Given the description of an element on the screen output the (x, y) to click on. 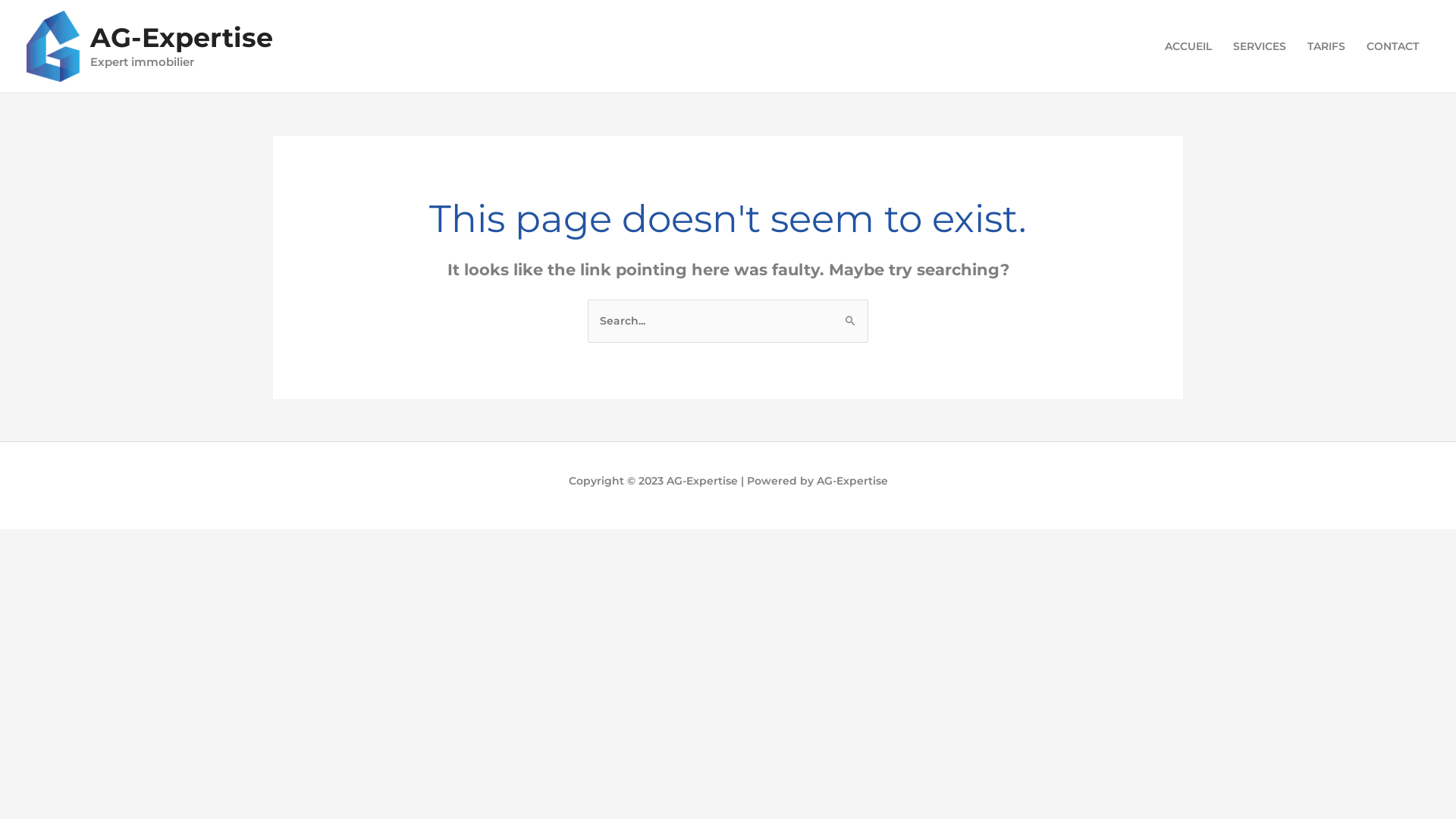
Search Element type: text (851, 318)
ACCUEIL Element type: text (1188, 46)
AG-Expertise Element type: text (181, 37)
CONTACT Element type: text (1392, 46)
TARIFS Element type: text (1325, 46)
SERVICES Element type: text (1259, 46)
